Given the description of an element on the screen output the (x, y) to click on. 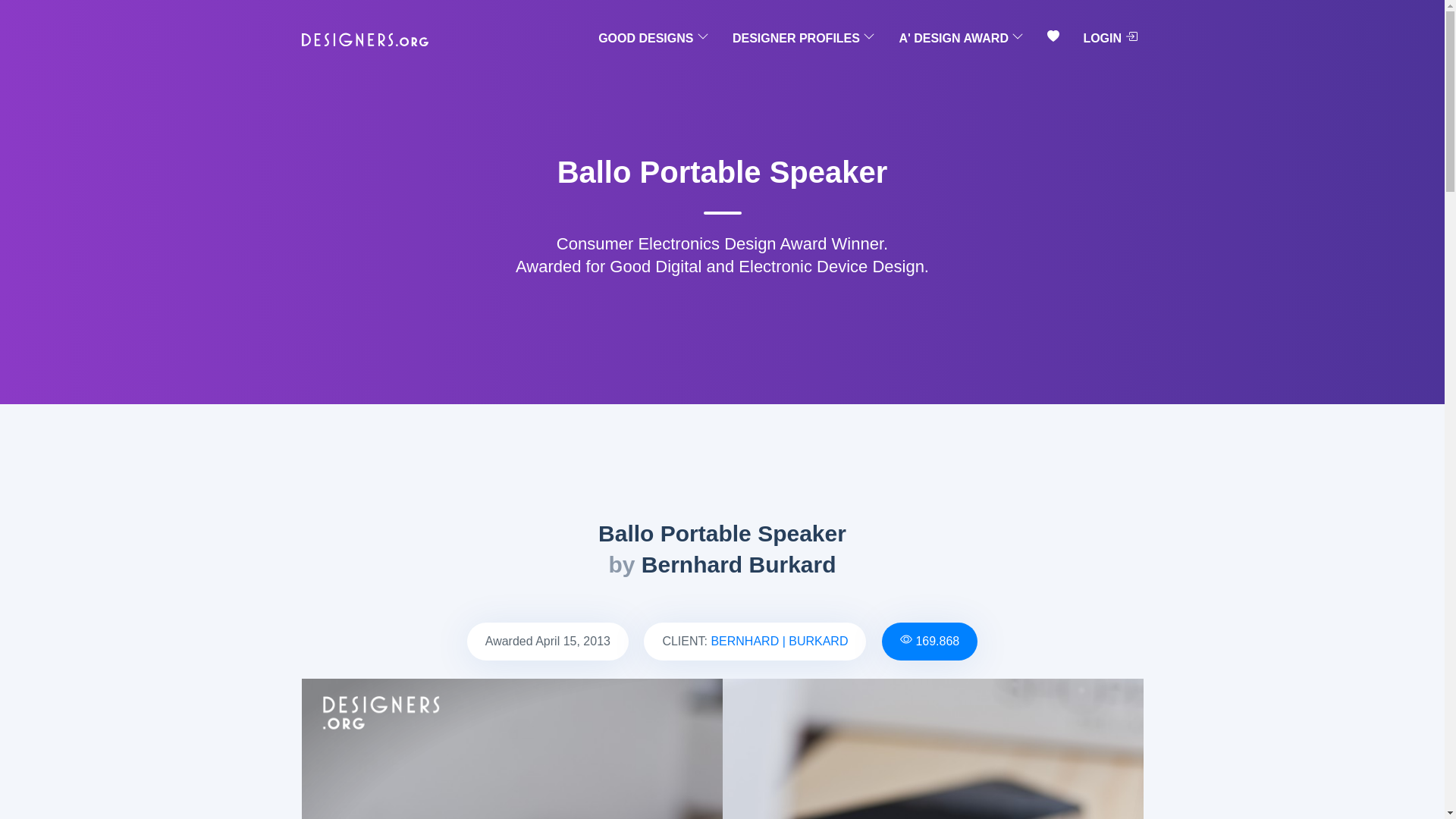
DESIGNER PROFILES (803, 38)
GOOD DESIGNS (653, 38)
Estimated Number of Design Views (937, 640)
A' DESIGN AWARD (960, 38)
